Given the description of an element on the screen output the (x, y) to click on. 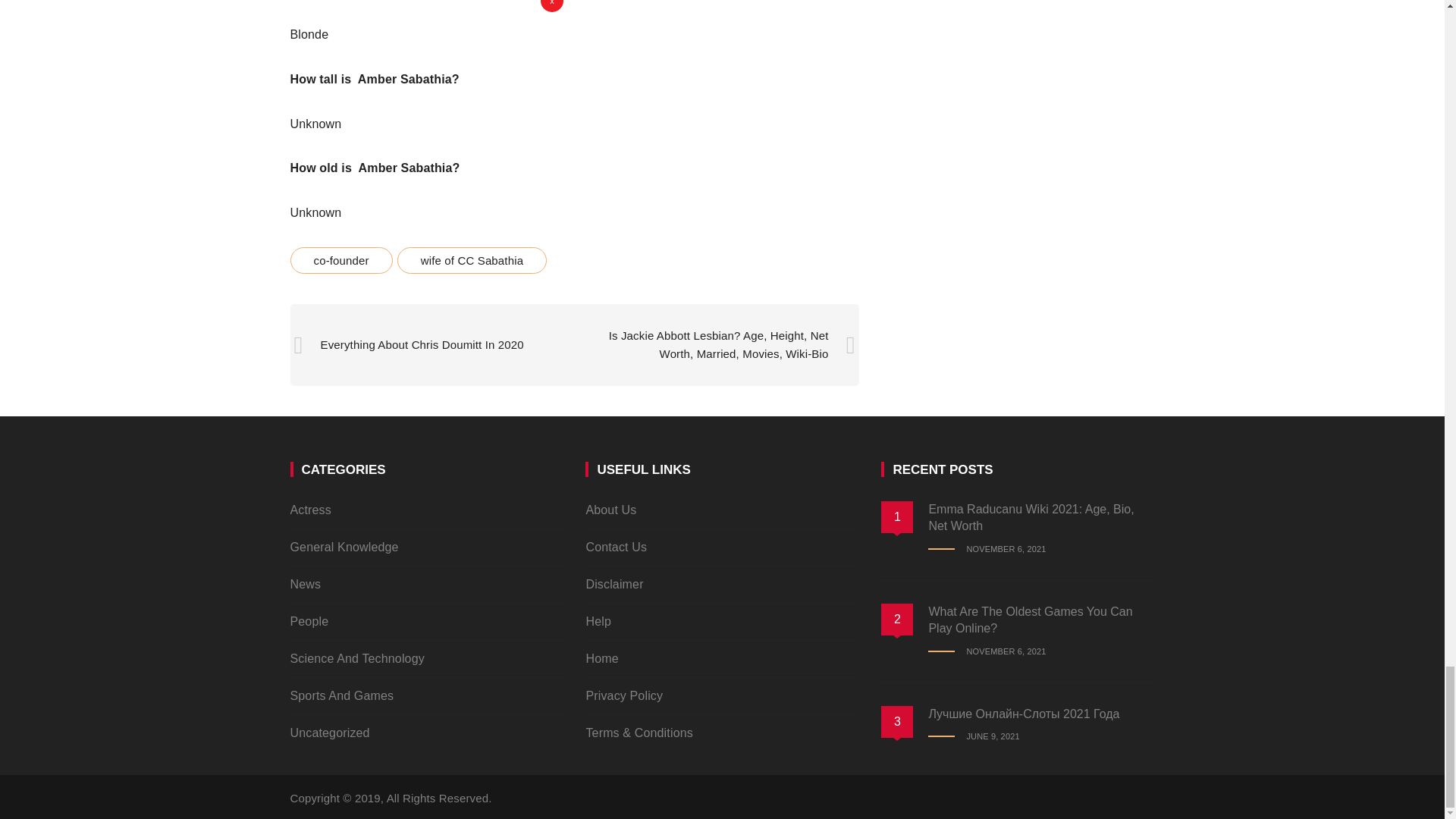
co-founder (340, 260)
Everything About Chris Doumitt In 2020 (421, 344)
wife of CC Sabathia (472, 260)
